Given the description of an element on the screen output the (x, y) to click on. 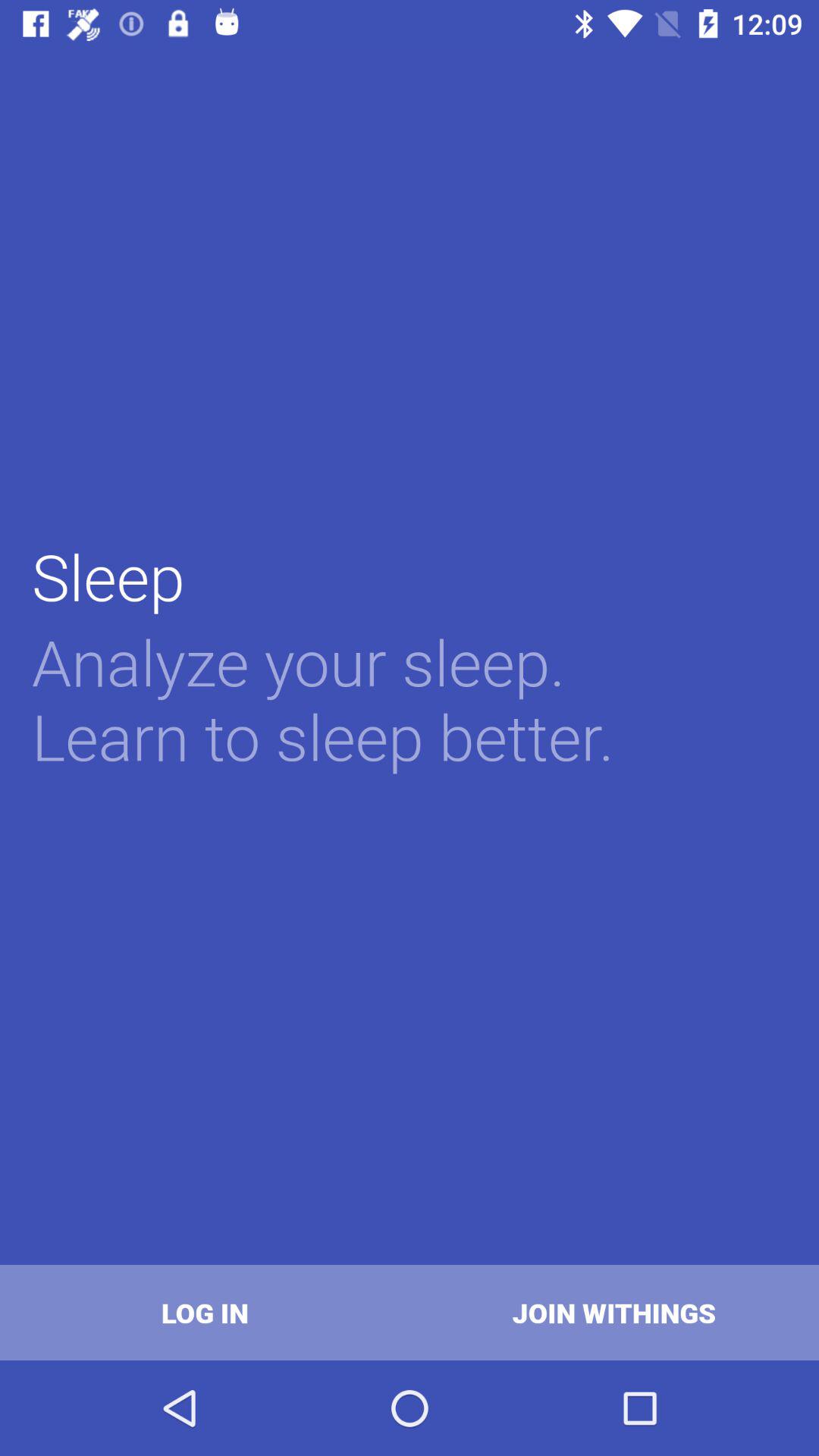
choose icon next to the join withings (204, 1312)
